Given the description of an element on the screen output the (x, y) to click on. 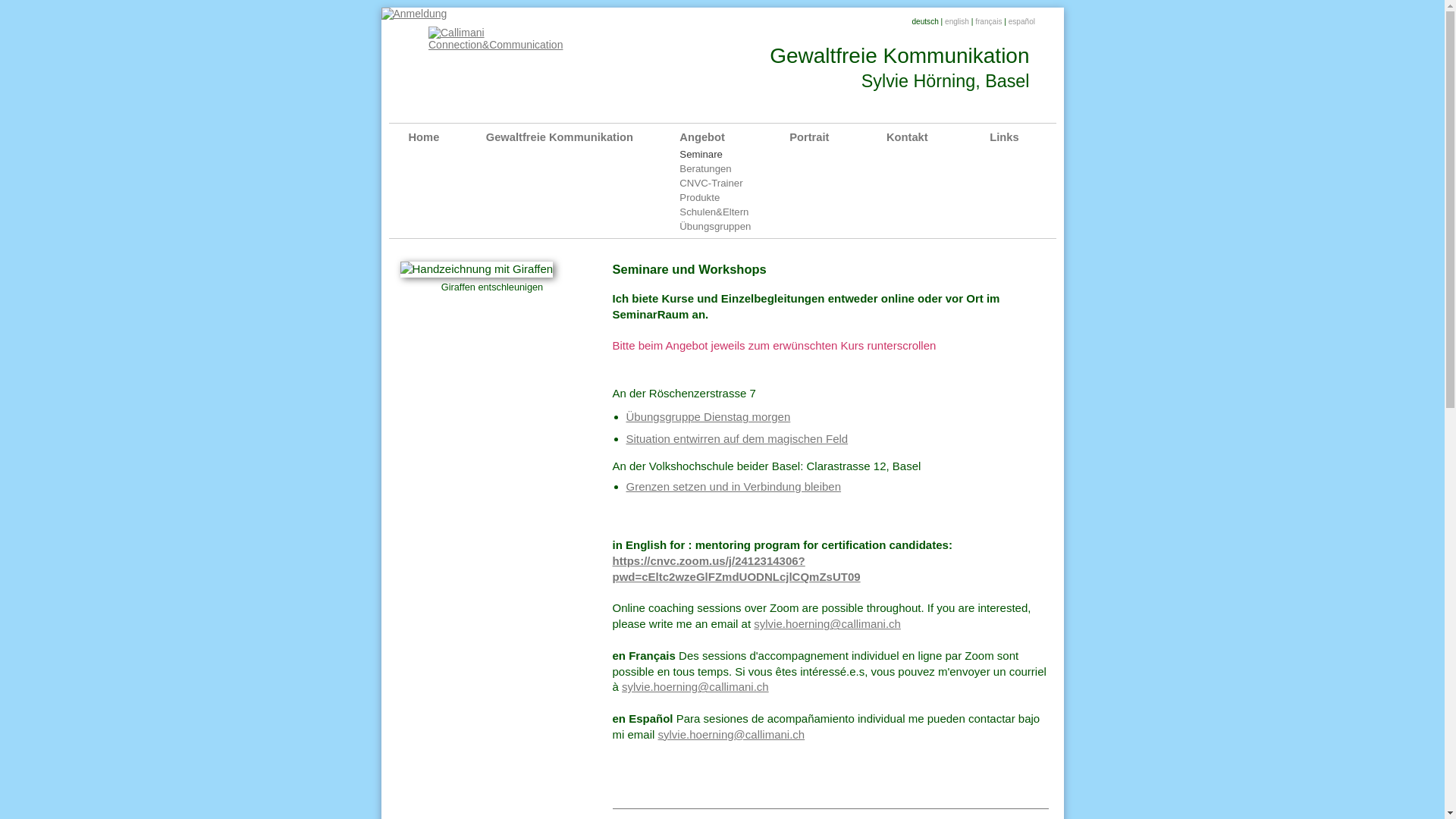
english Element type: text (956, 21)
Beratungen Element type: text (732, 168)
Produkte Element type: text (732, 197)
Grenzen setzen und in Verbindung bleiben Element type: text (733, 486)
Kontakt Element type: text (937, 137)
Home Element type: text (445, 137)
Gewaltfreie Kommunikation Element type: text (582, 137)
Seminare Element type: text (732, 154)
Angebot Element type: text (733, 137)
CNVC-Trainer Element type: text (732, 182)
Situation entwirren auf dem magischen Feld Element type: text (737, 438)
sylvie.hoerning@callimani.ch Element type: text (731, 734)
Schulen&Eltern Element type: text (732, 211)
sylvie.hoerning@callimani.ch Element type: text (694, 686)
Portrait Element type: text (836, 137)
Links Element type: text (1020, 137)
sylvie.hoerning@callimani.ch Element type: text (826, 623)
ISS CMS Anmeldung Element type: hover (413, 13)
